Given the description of an element on the screen output the (x, y) to click on. 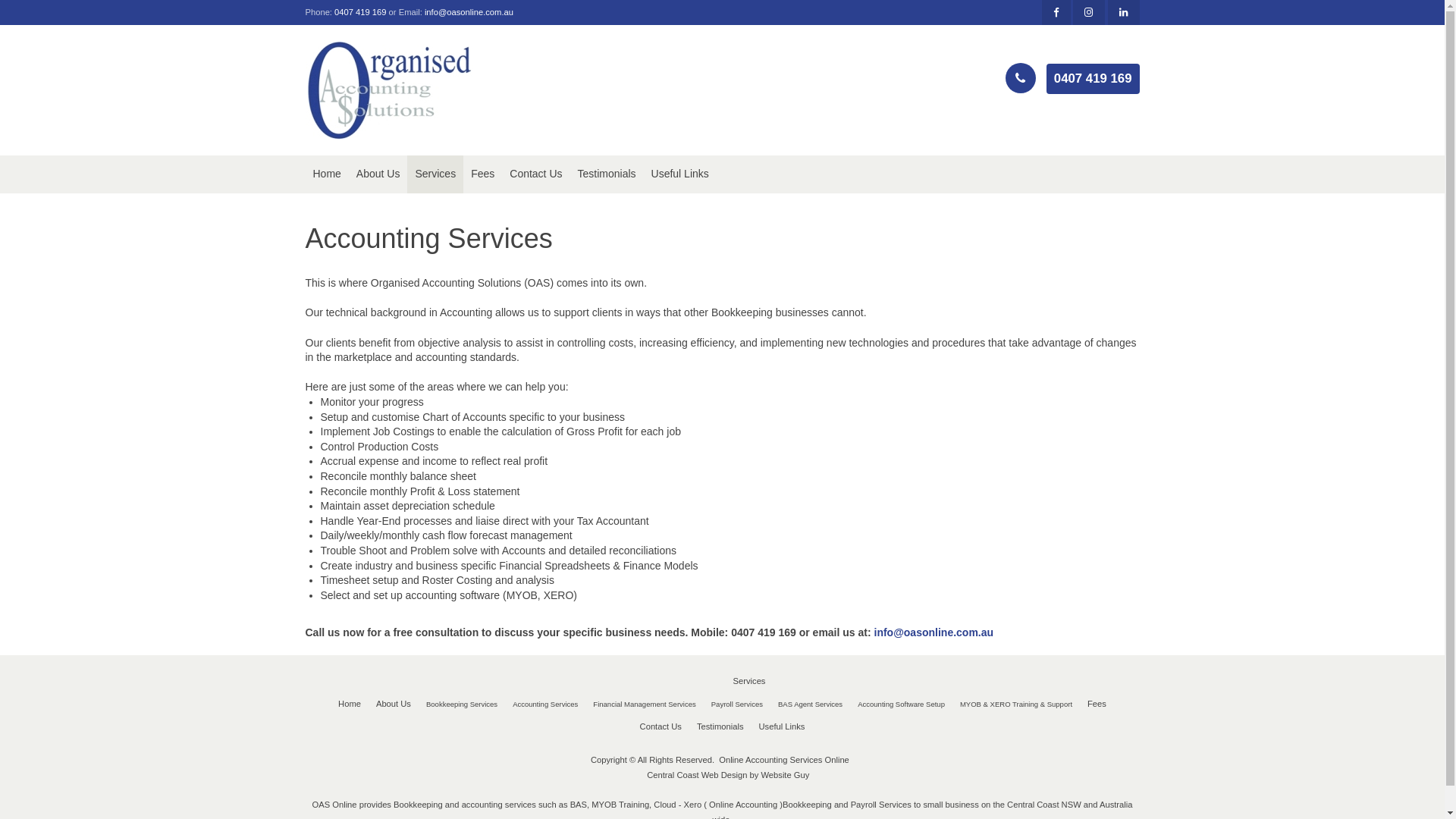
Financial Management Services Element type: text (643, 704)
Home Element type: text (326, 174)
0407 419 169 Element type: text (359, 11)
Fees Element type: text (482, 174)
info@oasonline.com.au Element type: text (468, 11)
Fees Element type: text (1096, 704)
info@oasonline.com.au Element type: text (934, 632)
Payroll Services Element type: text (736, 704)
Bookkeeping Services Element type: text (461, 704)
Testimonials Element type: text (606, 174)
Useful Links Element type: text (679, 174)
Instagram Element type: hover (1088, 12)
MYOB & XERO Training & Support Element type: text (1015, 704)
About Us Element type: text (393, 704)
Testimonials Element type: text (720, 726)
About Us Element type: text (377, 174)
Contact Us Element type: text (535, 174)
Facebook Element type: hover (1055, 12)
Linkedin Element type: hover (1123, 12)
Contact Us Element type: text (660, 726)
Accounting Software Setup Element type: text (901, 704)
Services Element type: text (749, 681)
BAS Agent Services Element type: text (810, 704)
Services Element type: text (435, 174)
Accounting Services Element type: text (545, 704)
0407 419 169 Element type: text (1092, 78)
Useful Links Element type: text (781, 726)
Home Element type: text (349, 704)
